Given the description of an element on the screen output the (x, y) to click on. 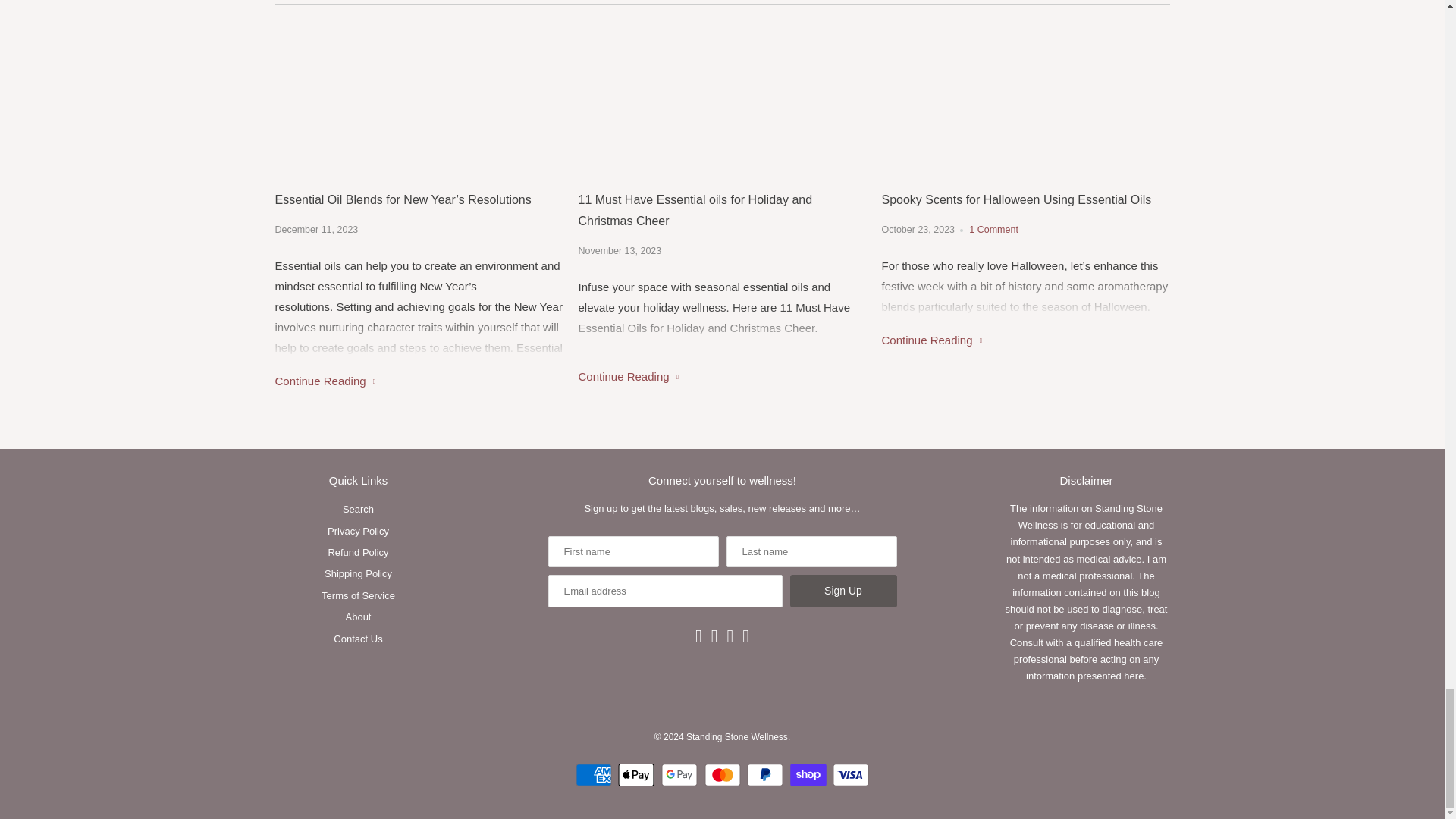
11 Must Have Essential oils for Holiday and Christmas Cheer (722, 96)
Shop Pay (809, 774)
Spooky Scents for Halloween Using Essential Oils (1024, 199)
Apple Pay (637, 774)
11 Must Have Essential oils for Holiday and Christmas Cheer (722, 210)
Sign Up (843, 590)
American Express (595, 774)
Visa (850, 774)
Spooky Scents for Halloween Using Essential Oils (1024, 96)
Mastercard (723, 774)
11 Must Have Essential oils for Holiday and Christmas Cheer (628, 376)
Google Pay (681, 774)
PayPal (766, 774)
